Given the description of an element on the screen output the (x, y) to click on. 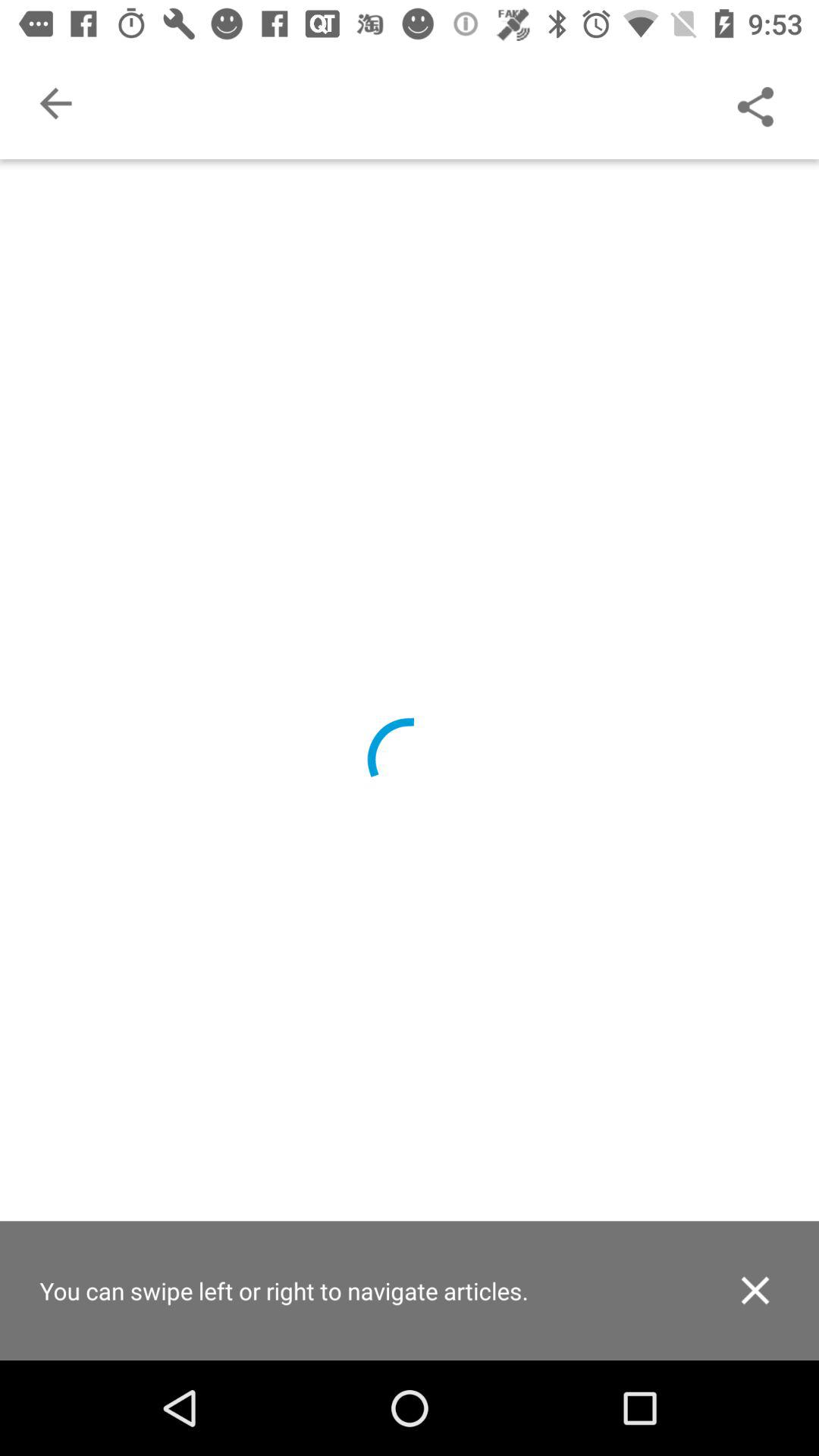
press item above you can swipe (55, 103)
